Given the description of an element on the screen output the (x, y) to click on. 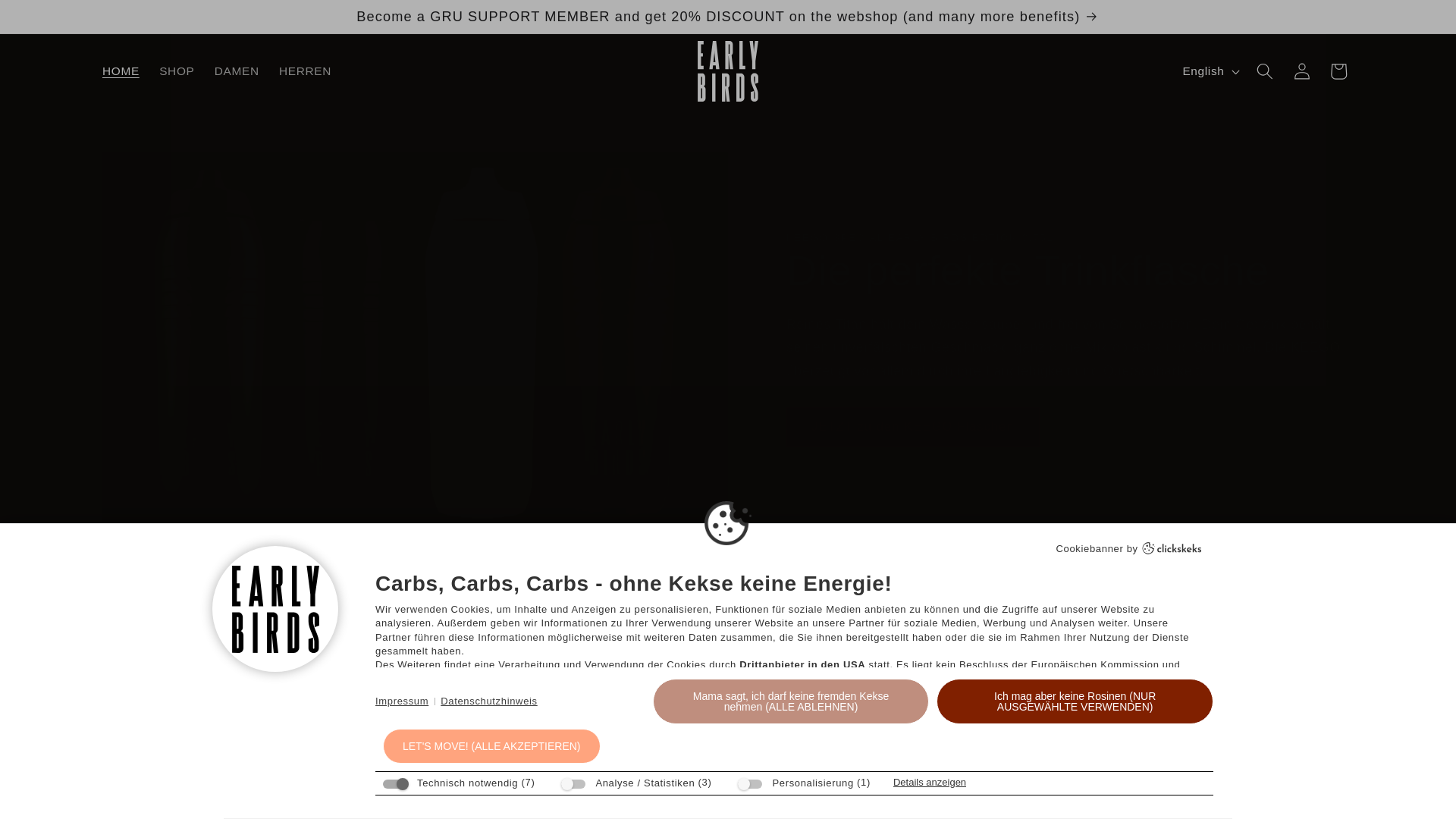
0 (643, 710)
Details anzeigen (929, 781)
0 (125, 710)
Skip to content (50, 19)
0 (901, 710)
HOME (121, 71)
Impressum (401, 701)
0 (1159, 710)
0 (384, 710)
SHOP (177, 71)
Clickskeks (1171, 549)
DAMEN (237, 71)
Datenschutzhinweis (489, 701)
Clickskeks Logo (1171, 549)
Clickskeks Logo (1171, 548)
